Given the description of an element on the screen output the (x, y) to click on. 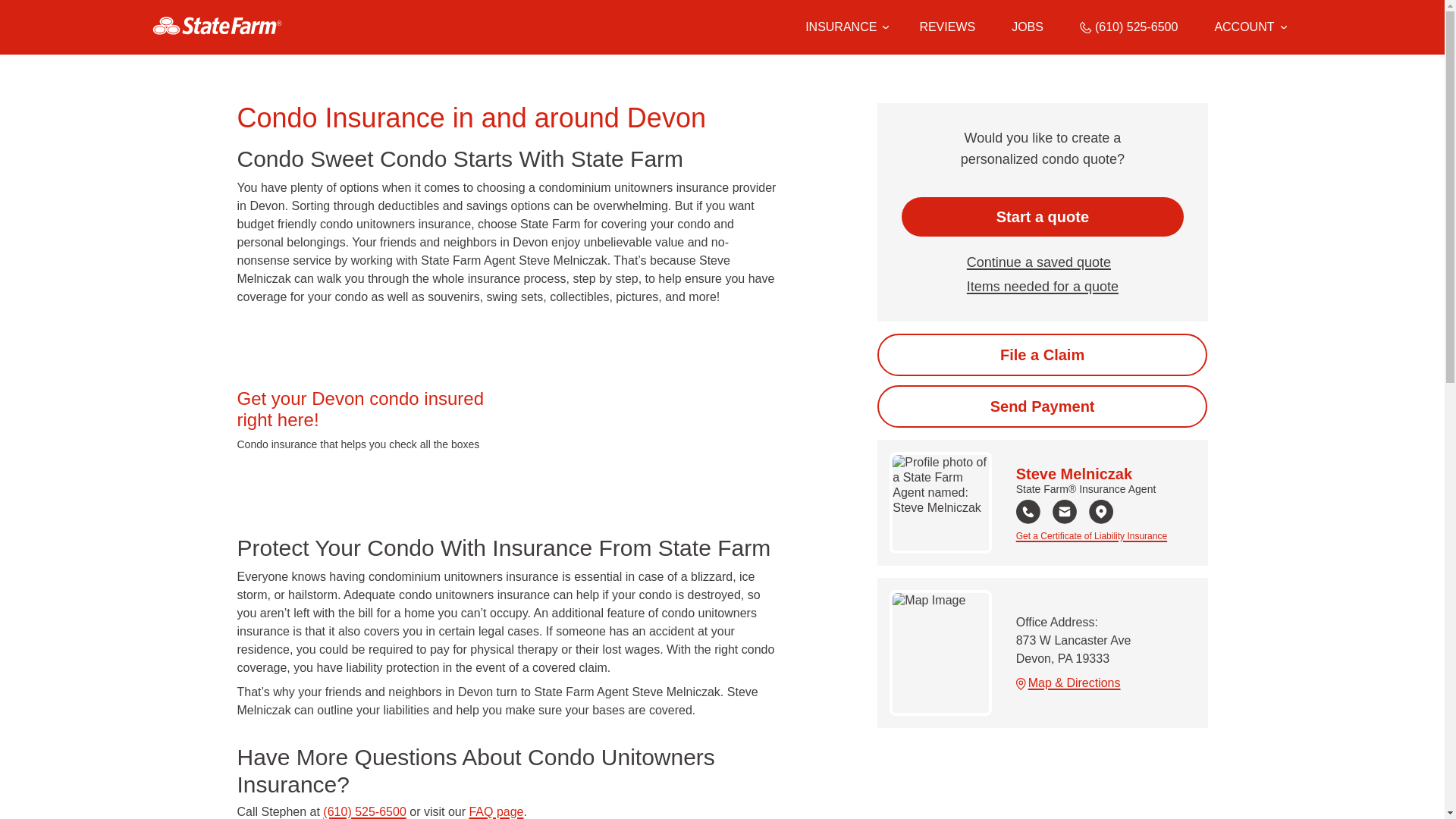
Insurance (844, 27)
ACCOUNT (1250, 27)
JOBS (1027, 27)
FAQ page (495, 811)
Start the claim process online (1042, 354)
INSURANCE (840, 27)
Account Options (1250, 27)
REVIEWS (946, 27)
